Given the description of an element on the screen output the (x, y) to click on. 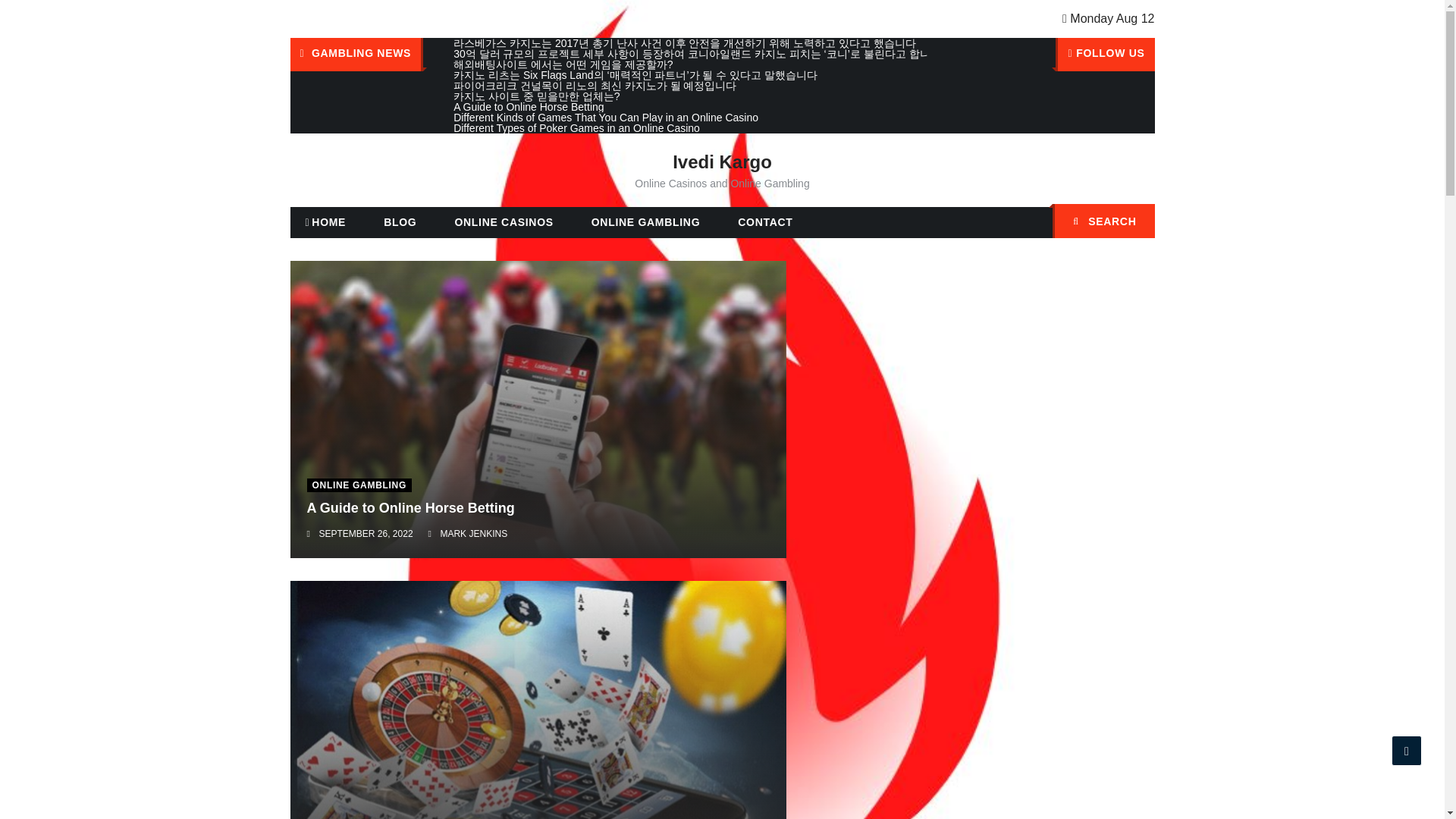
Ivedi Kargo (721, 161)
FOLLOW US (1104, 54)
ONLINE GAMBLING (358, 485)
Search (1135, 222)
ONLINE CASINOS (503, 222)
ONLINE GAMBLING (646, 222)
Search (1135, 222)
Search (1135, 222)
HOME (325, 222)
BLOG (399, 222)
